Given the description of an element on the screen output the (x, y) to click on. 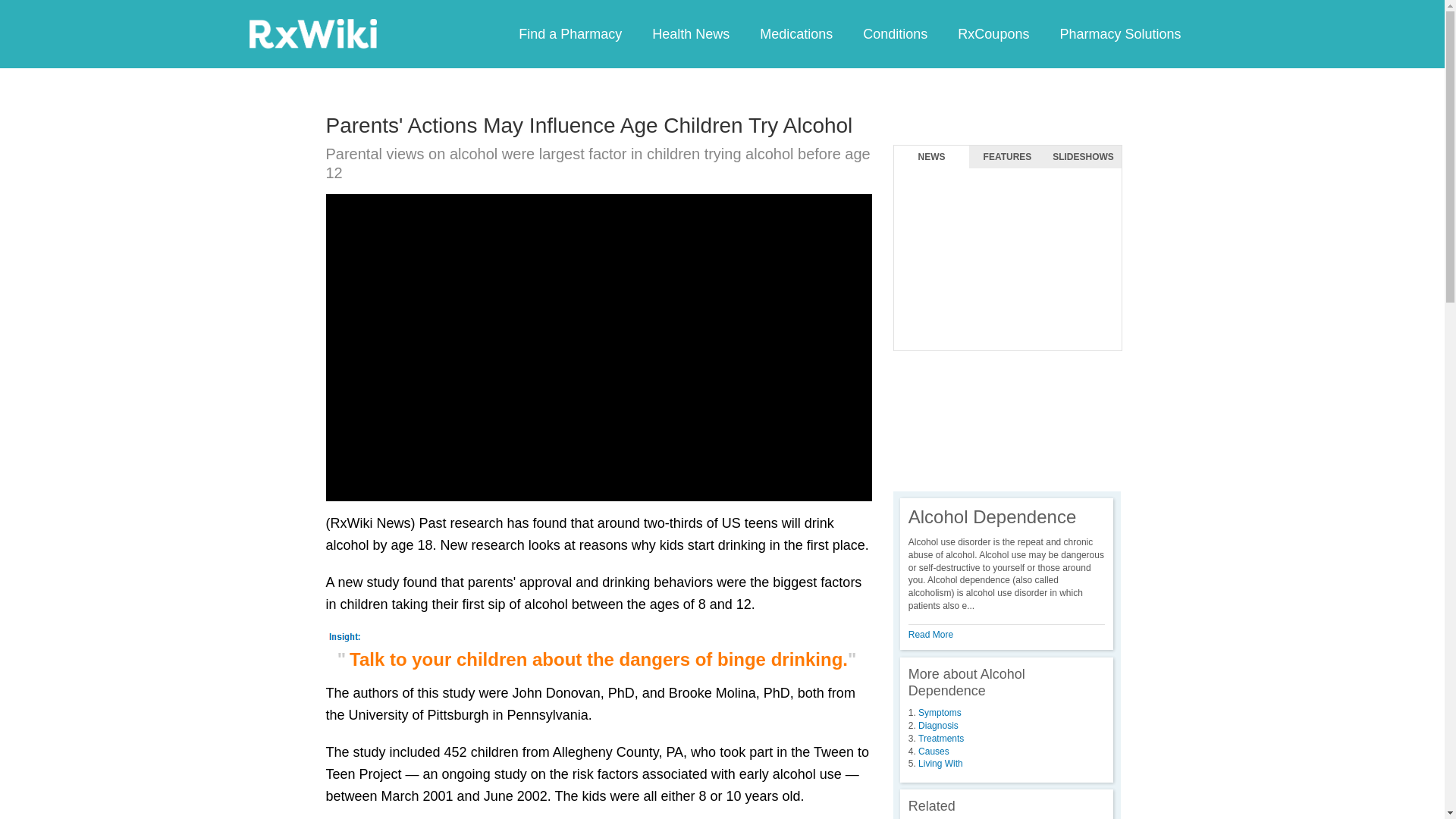
Read More (930, 634)
Pharmacy Solutions (1119, 33)
Find a Pharmacy (570, 33)
SLIDESHOWS (1083, 156)
Health News (690, 33)
RxWiki (312, 32)
Diagnosis (938, 725)
FEATURES (1007, 156)
Conditions (894, 33)
RxCoupons (992, 33)
Medications (795, 33)
NEWS (931, 156)
Symptoms (939, 712)
